Given the description of an element on the screen output the (x, y) to click on. 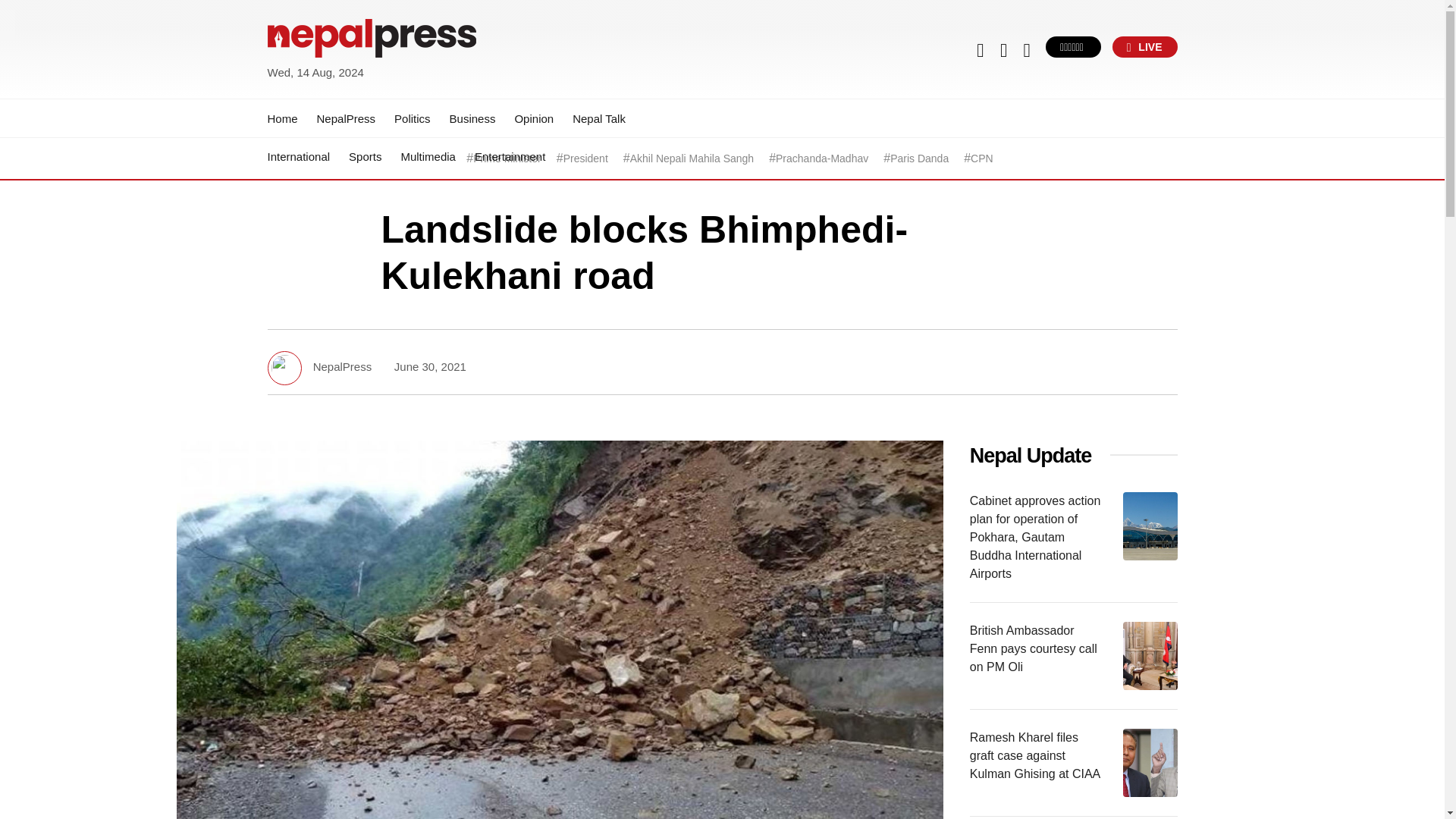
Paris Danda (919, 158)
CPN (981, 158)
Nepal Talk (599, 118)
Akhil Nepali Mahila Sangh (692, 158)
Multimedia (427, 156)
Prachanda-Madhav (821, 158)
LIVE (1144, 46)
Prime Minister (506, 158)
Prime Minister (506, 158)
Entertainment (509, 156)
